Given the description of an element on the screen output the (x, y) to click on. 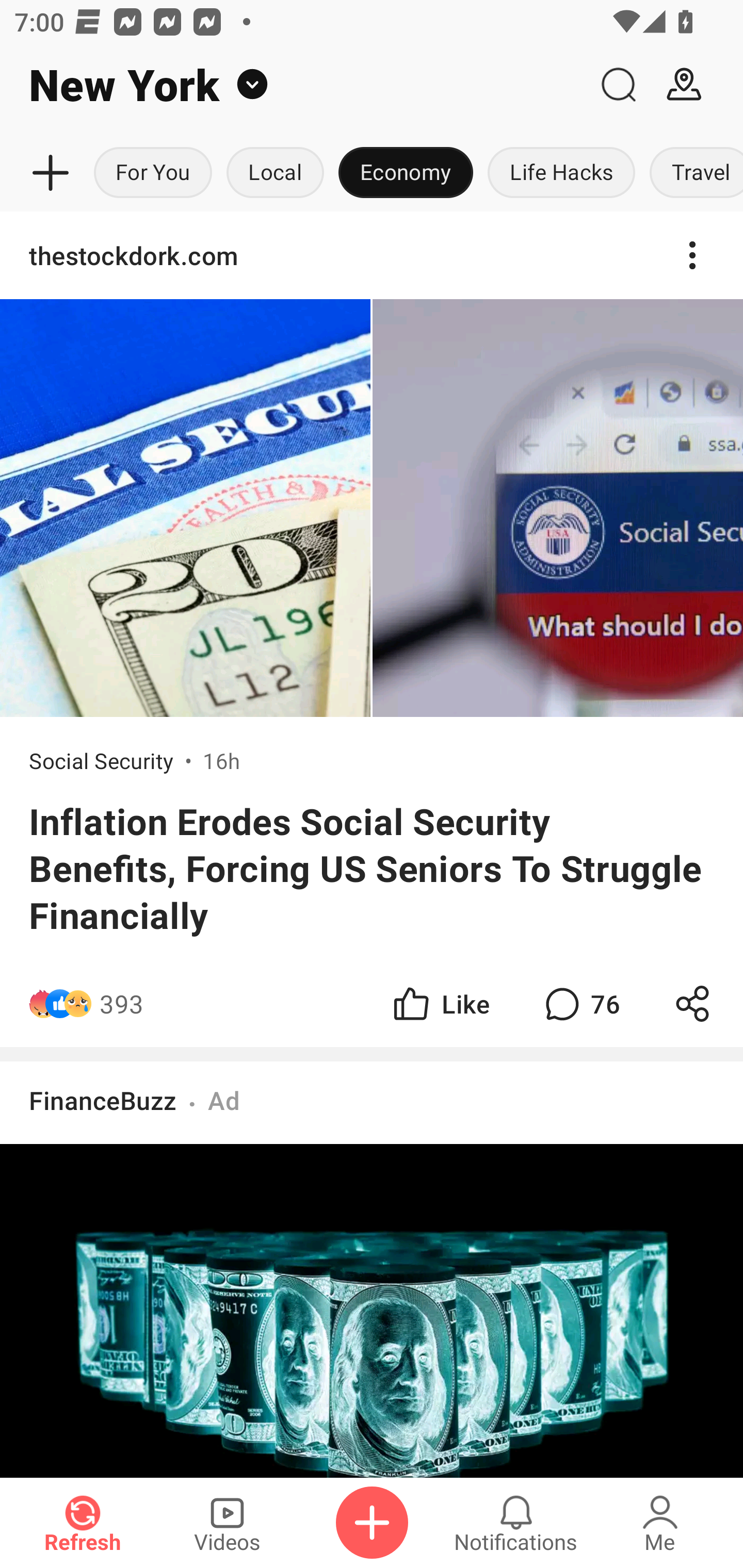
New York (292, 84)
For You (152, 172)
Local (275, 172)
Economy (405, 172)
Life Hacks (561, 172)
Travel (692, 172)
thestockdork.com (371, 255)
393 (244, 1003)
393 (121, 1003)
Like (439, 1003)
76 (579, 1003)
FinanceBuzz (102, 1099)
Videos (227, 1522)
Notifications (516, 1522)
Me (659, 1522)
